Given the description of an element on the screen output the (x, y) to click on. 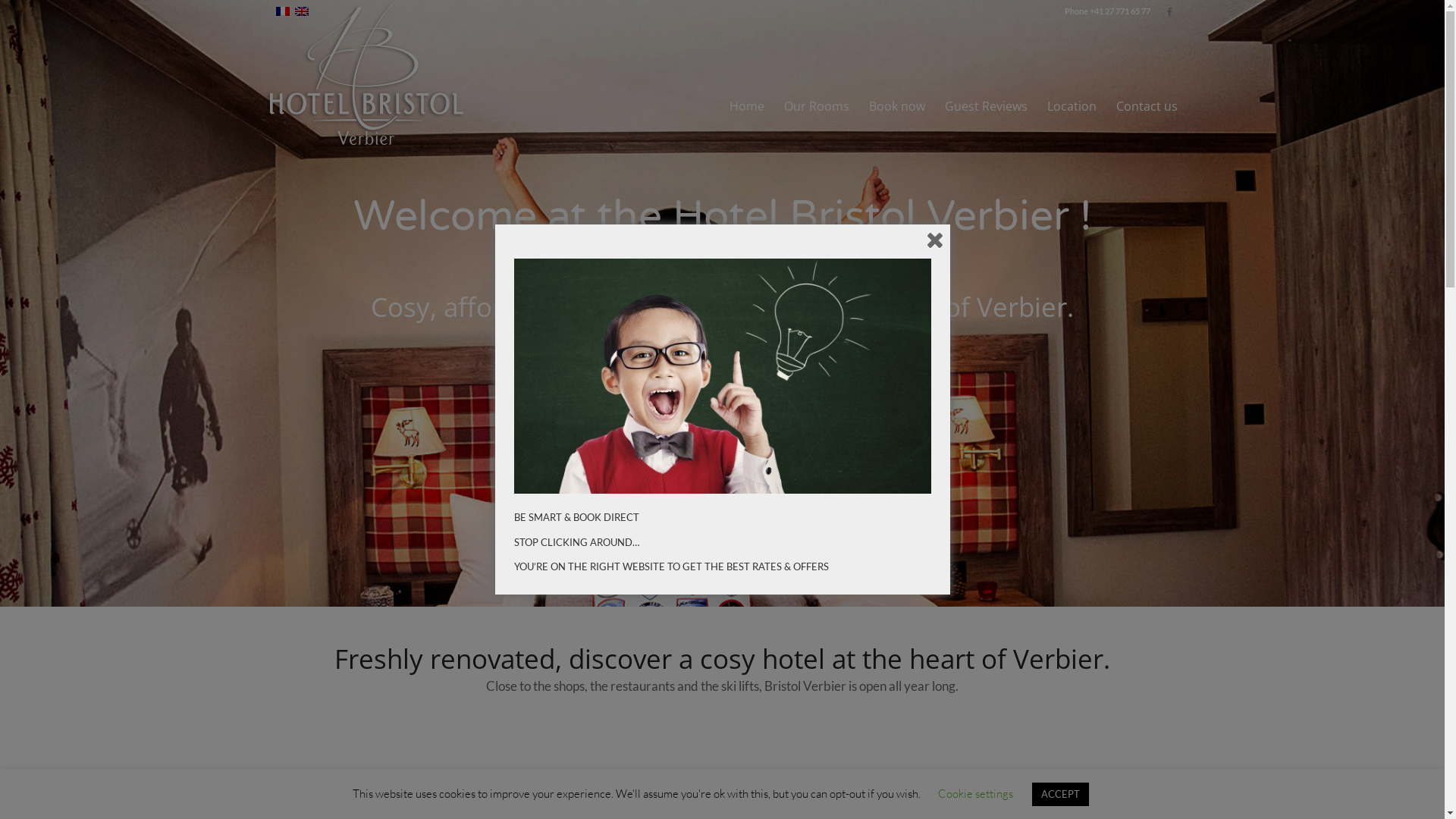
Location Element type: text (1071, 106)
Cookie settings Element type: text (974, 793)
Guest Reviews Element type: text (985, 106)
Book now ! Element type: text (721, 417)
Facebook Element type: hover (1169, 11)
Contact us Element type: text (1140, 106)
ACCEPT Element type: text (1059, 794)
Home Element type: text (745, 106)
Our Rooms Element type: text (815, 106)
Book now Element type: text (896, 106)
English Element type: hover (301, 11)
Discover our new restaurant "TARATATA" Element type: text (722, 472)
